Given the description of an element on the screen output the (x, y) to click on. 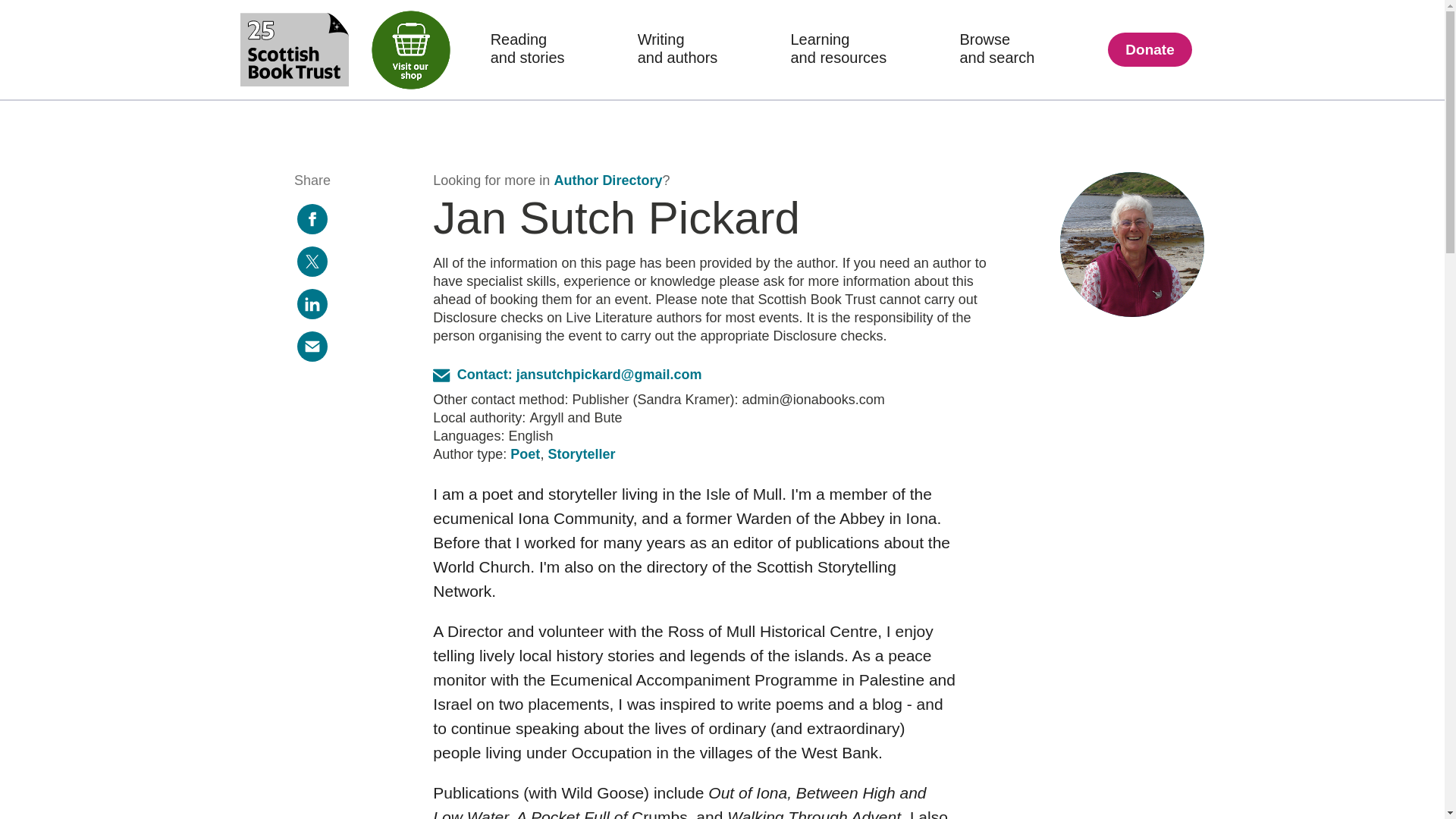
Donate (1150, 49)
Visit our shop (406, 46)
Jan Sutch Pickard's headshot (838, 48)
Go to the Scottish Book Trust Homepage (580, 453)
Author Directory (1132, 243)
